Given the description of an element on the screen output the (x, y) to click on. 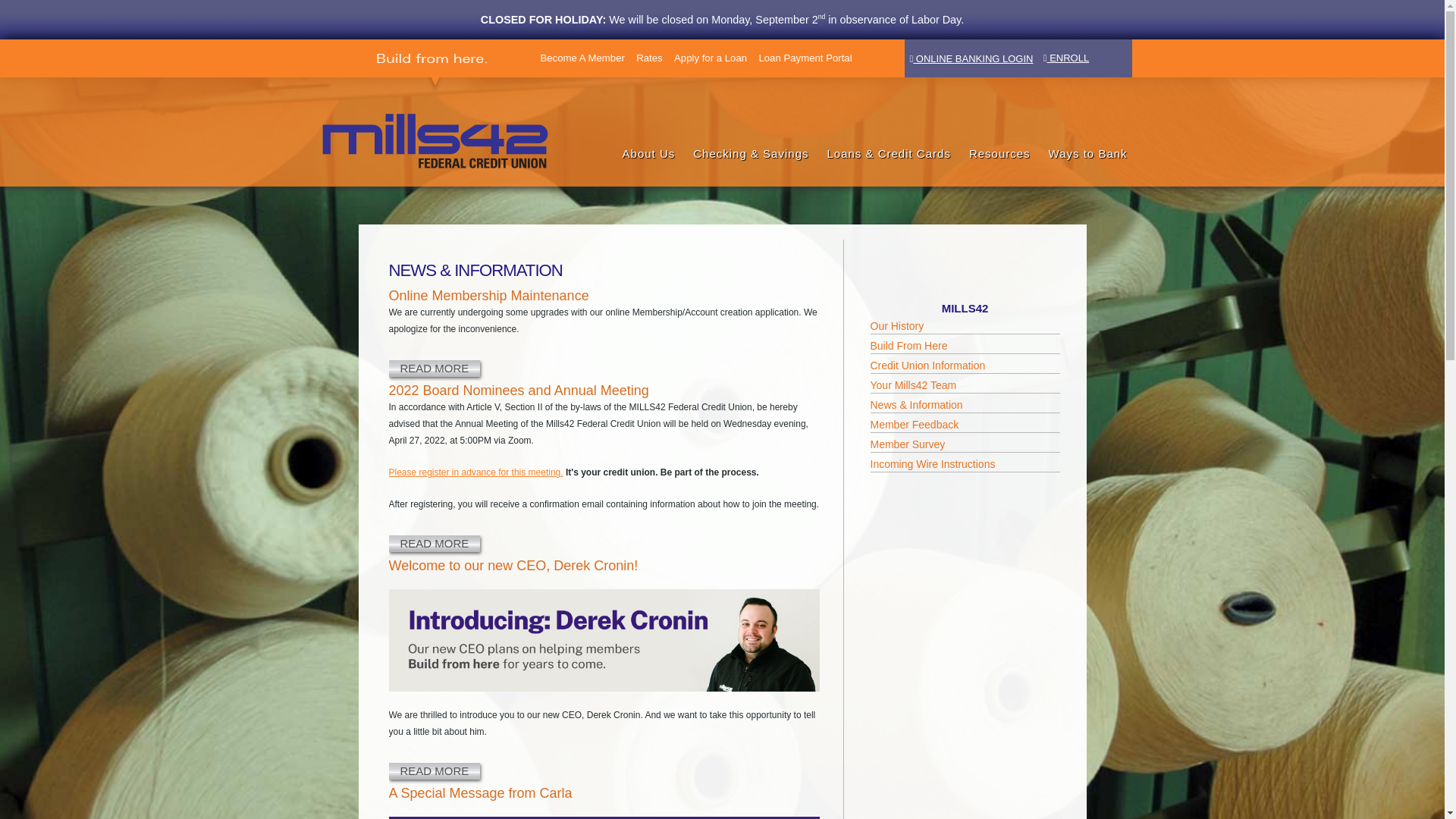
Rates (649, 57)
Apply for a Loan (710, 57)
ONLINE BANKING LOGIN (971, 58)
Loan Payment Portal (804, 57)
ENROLL (1066, 57)
Home (413, 122)
Become A Member (582, 57)
